Given the description of an element on the screen output the (x, y) to click on. 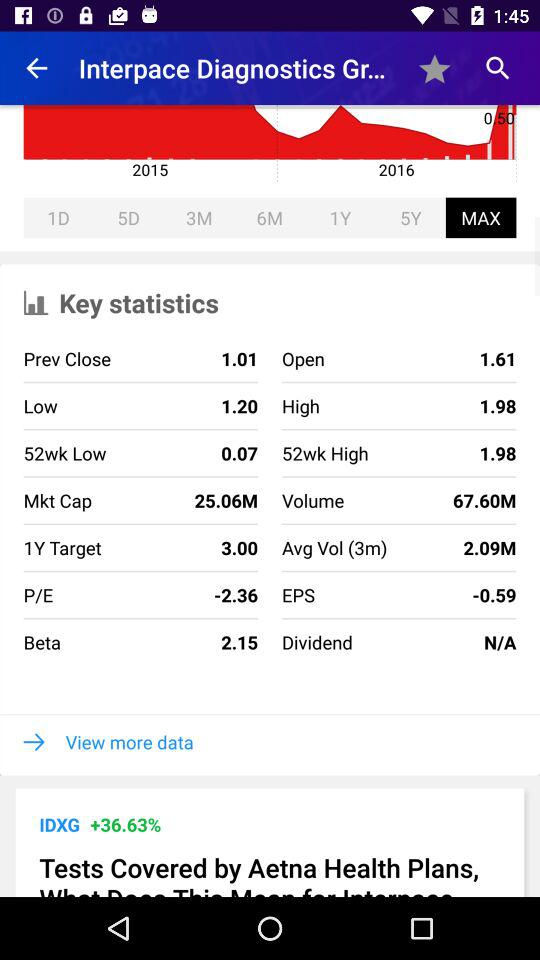
turn on icon below idxg item (269, 873)
